Given the description of an element on the screen output the (x, y) to click on. 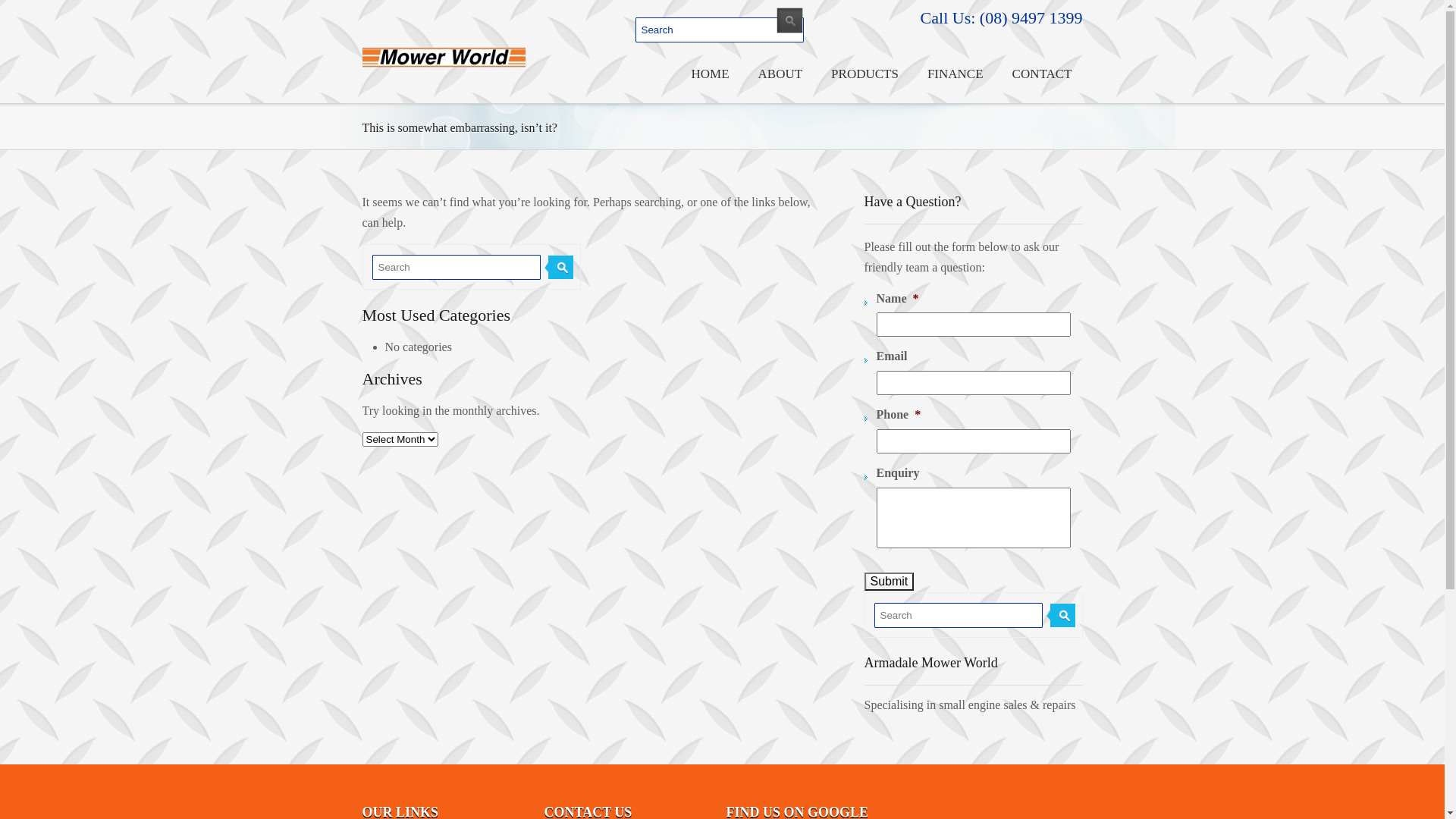
HOME Element type: text (708, 71)
ABOUT Element type: text (779, 71)
Submit Element type: text (889, 581)
FINANCE Element type: text (954, 71)
CONTACT Element type: text (1041, 71)
PRODUCTS Element type: text (864, 71)
